Given the description of an element on the screen output the (x, y) to click on. 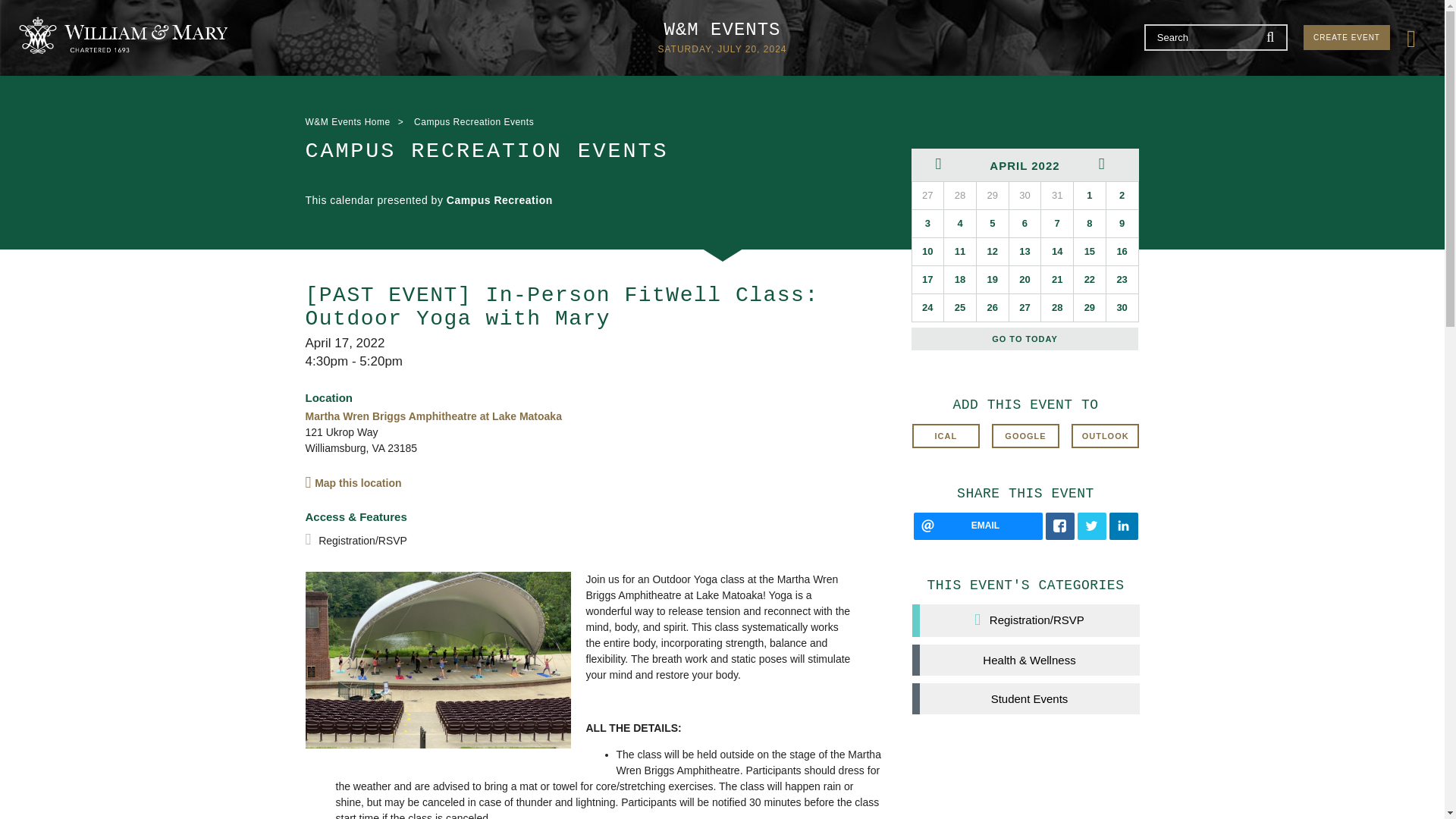
1 (1089, 195)
Martha Wren Briggs Amphitheatre at Lake Matoaka (432, 416)
APRIL 2022 (1024, 164)
Submit Search (1270, 36)
Submit (1270, 36)
PREVIOUS MONTH (943, 163)
Campus Recreation Events (473, 122)
2 (1122, 195)
CAMPUS RECREATION EVENTS (569, 150)
10 (927, 251)
4 (959, 223)
9 (1122, 223)
6 (1025, 223)
5 (992, 223)
8 (1089, 223)
